Given the description of an element on the screen output the (x, y) to click on. 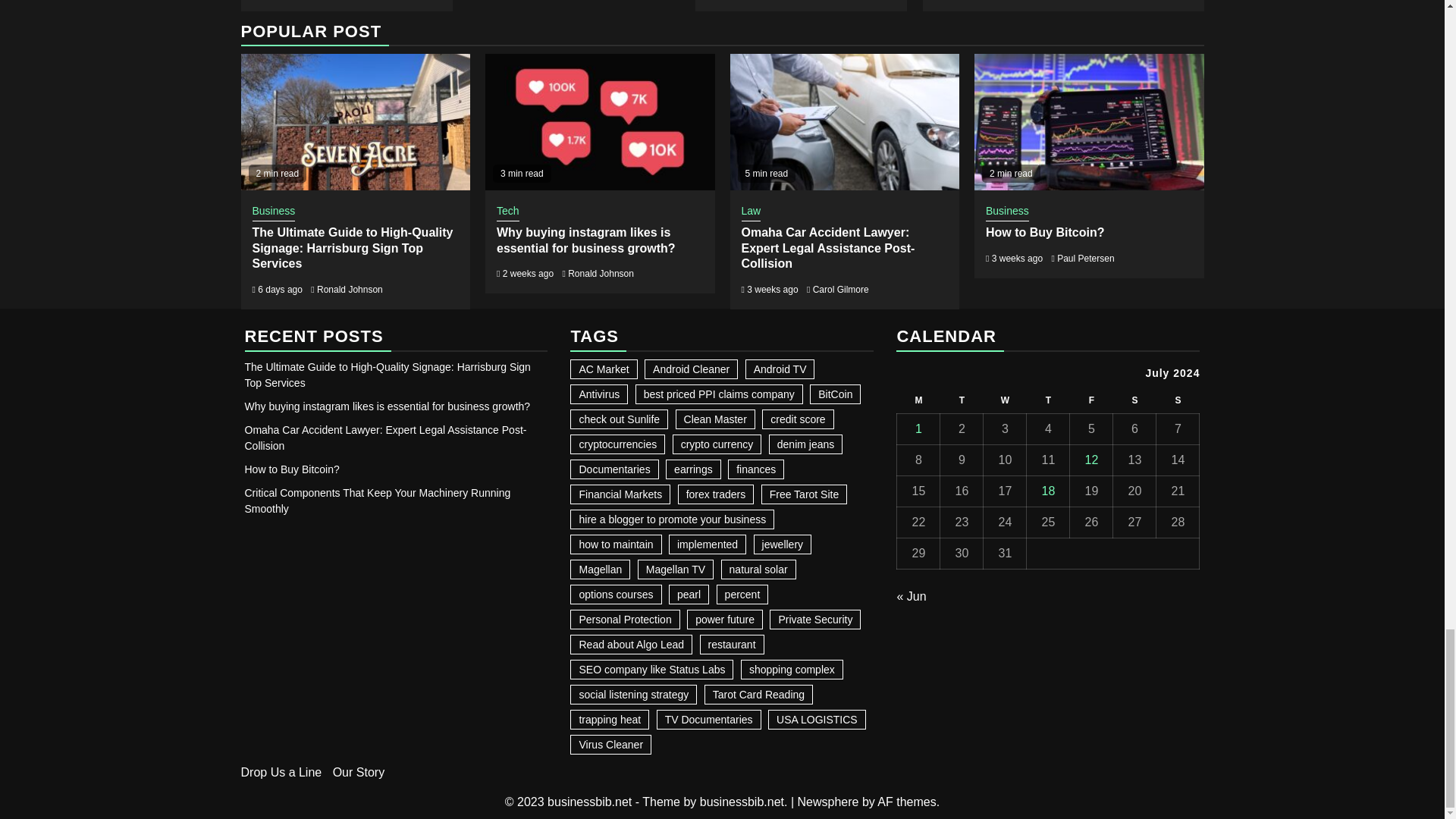
Friday (1091, 400)
Thursday (1048, 400)
Tuesday (962, 400)
Saturday (1134, 400)
Monday (918, 400)
Sunday (1177, 400)
Wednesday (1005, 400)
